Given the description of an element on the screen output the (x, y) to click on. 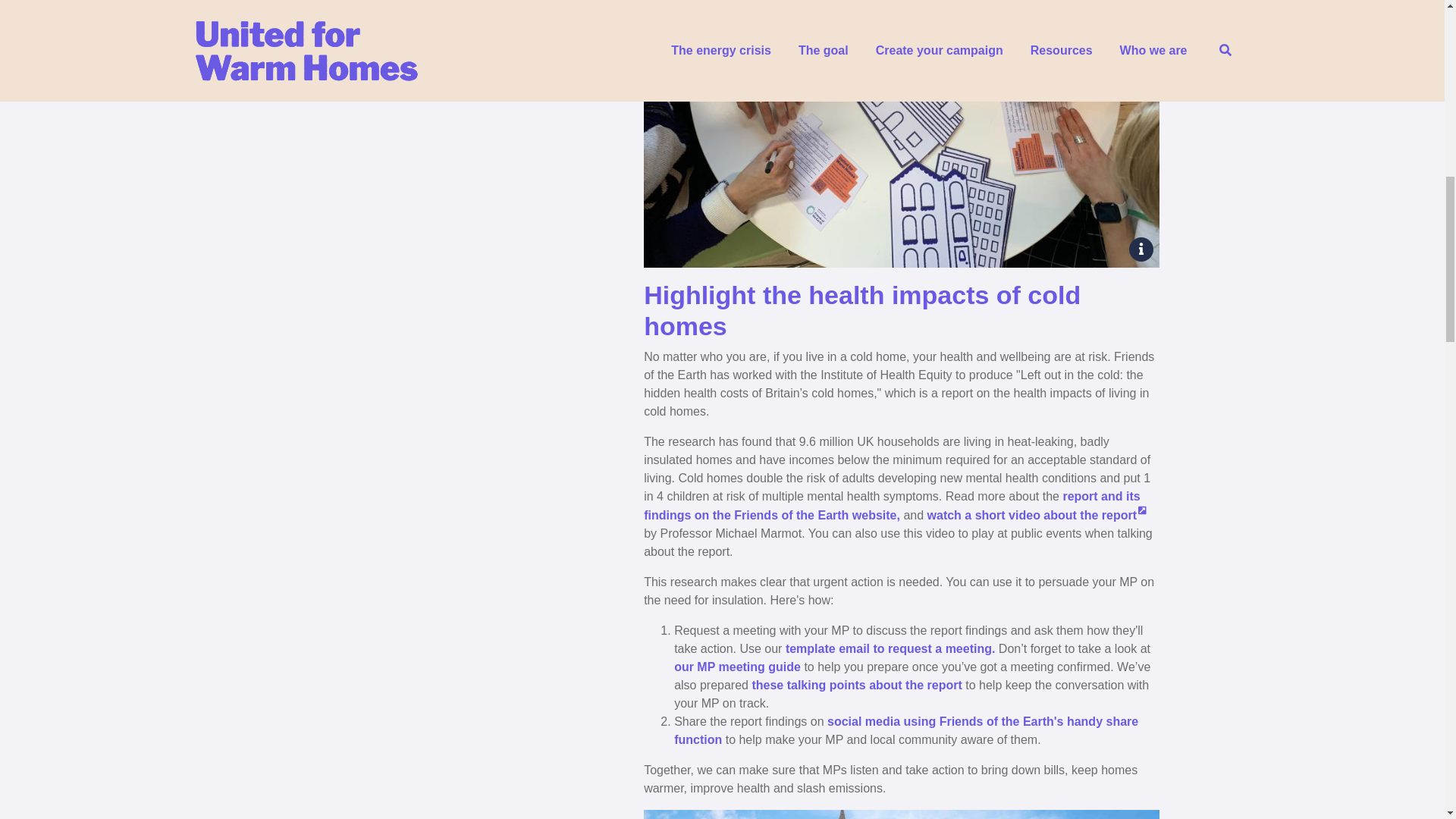
these talking points about the report (855, 684)
watch a short video about the report (1037, 514)
template email to request a meeting. (890, 648)
Campaigners take their community quilts to Westminster (900, 814)
our MP meeting guide (737, 666)
report and its findings on the Friends of the Earth website, (891, 505)
